Given the description of an element on the screen output the (x, y) to click on. 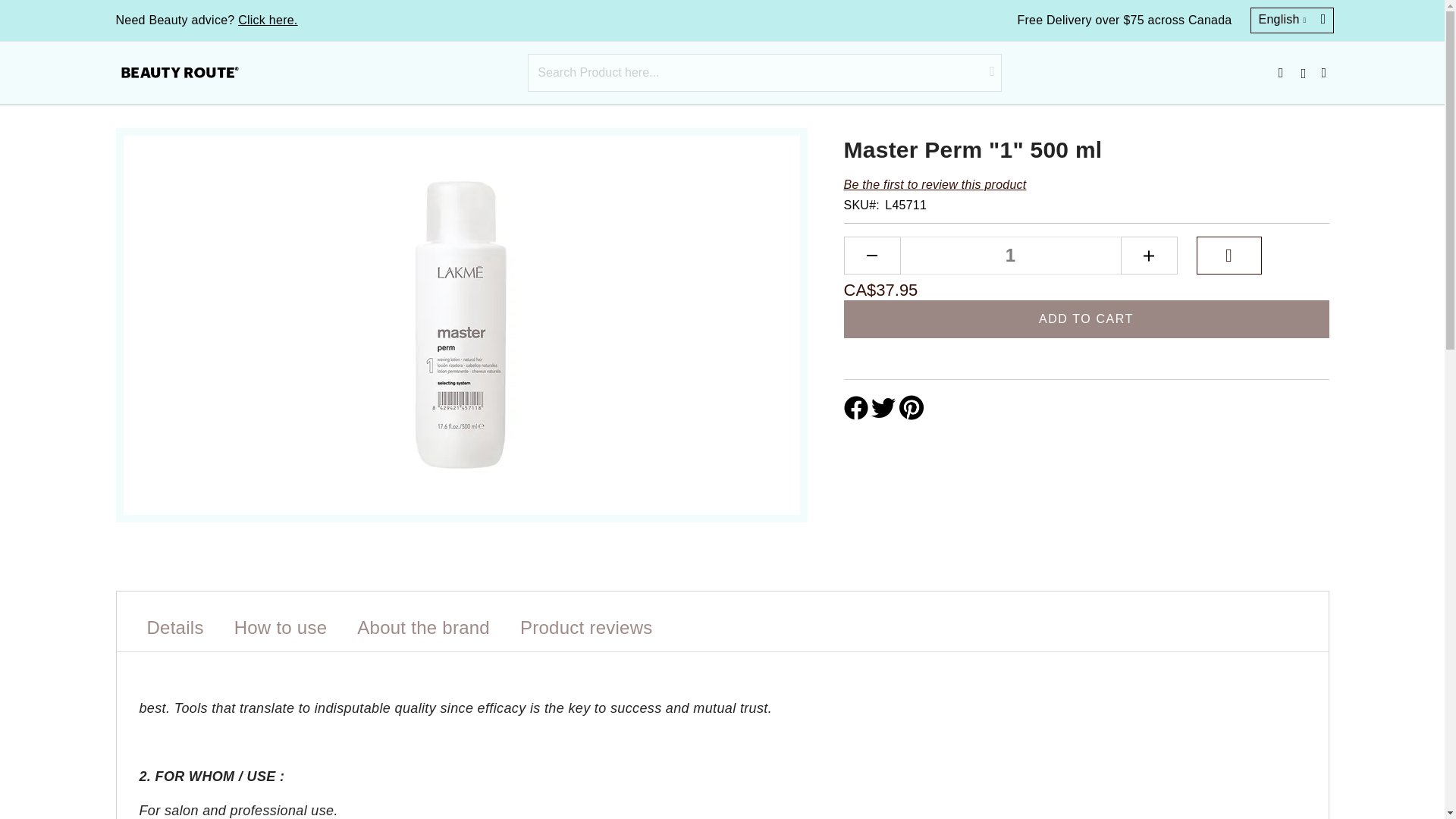
Add to Cart (1085, 319)
click here. (267, 20)
Add to Wishlist (1229, 255)
product reviews (586, 632)
increase (1149, 255)
decrease (871, 255)
how to use (280, 632)
about the brand (423, 632)
details (175, 632)
1 (1009, 255)
ADD TO CART (1085, 319)
Be the first to review this product (934, 184)
Qty (1009, 255)
